Given the description of an element on the screen output the (x, y) to click on. 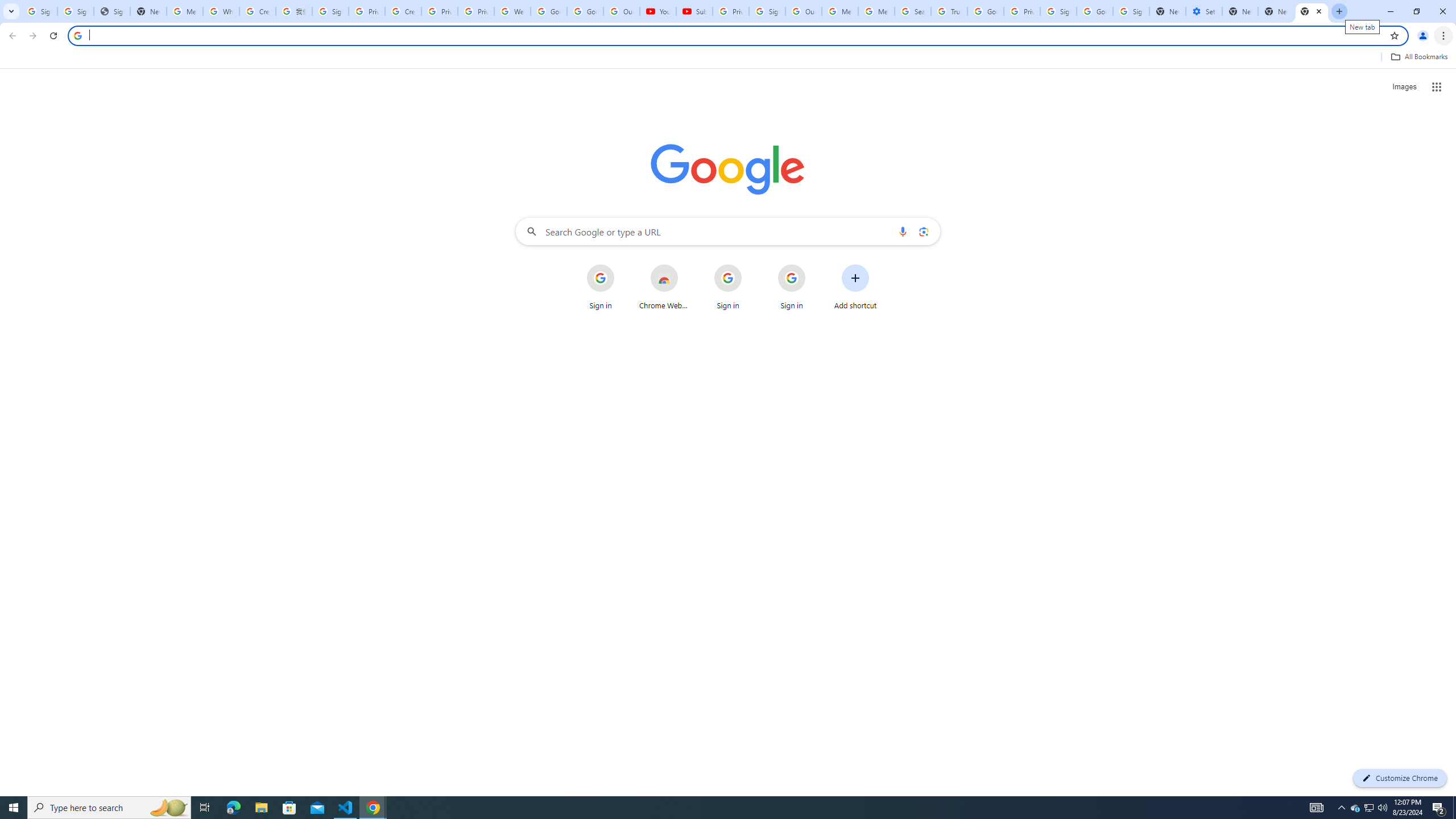
New Tab (1240, 11)
Who is my administrator? - Google Account Help (221, 11)
More actions for Sign in shortcut (814, 265)
